Given the description of an element on the screen output the (x, y) to click on. 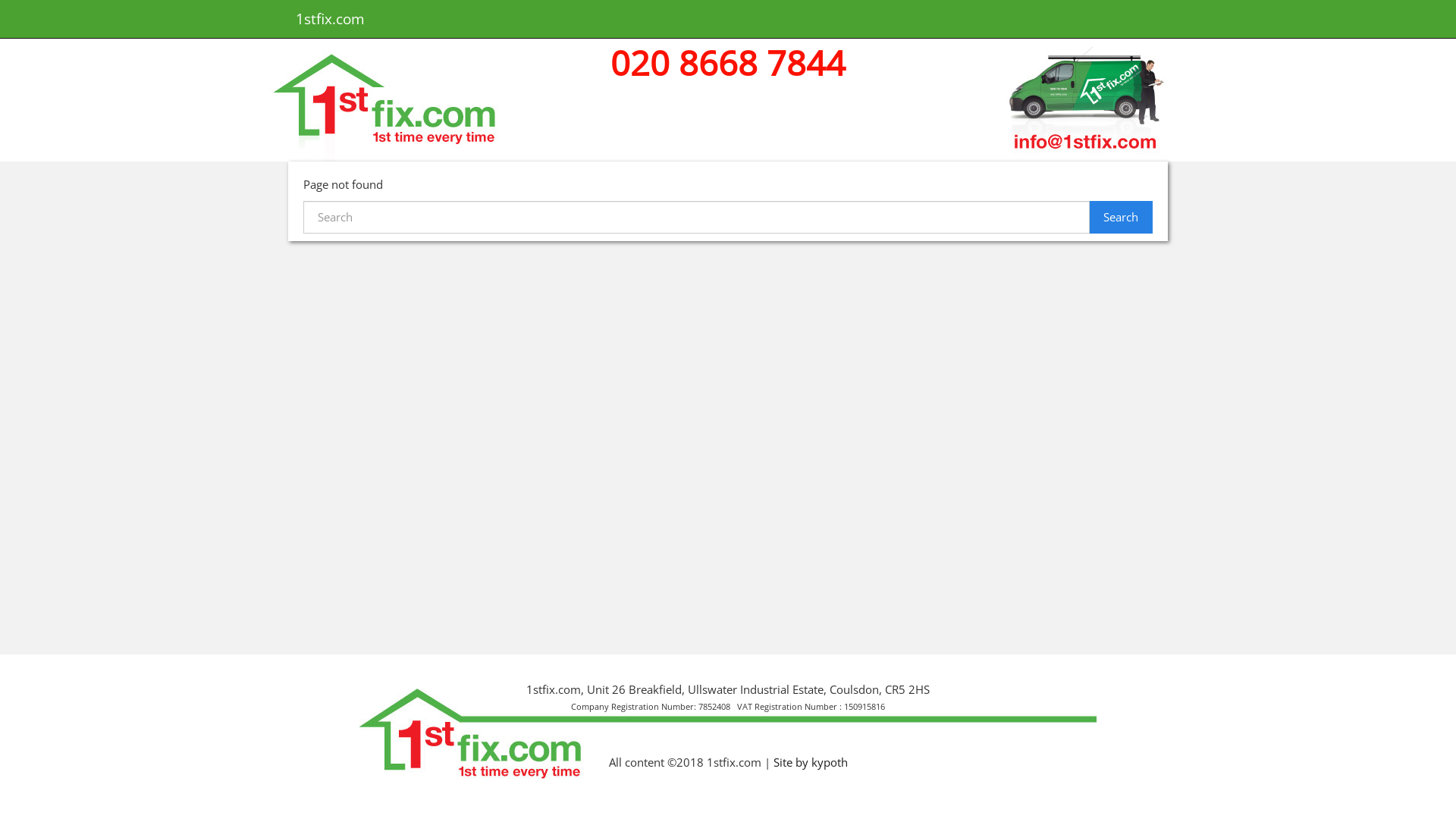
Search Element type: text (1120, 216)
kypoth Element type: text (829, 761)
1stfix.com Element type: text (330, 18)
